Given the description of an element on the screen output the (x, y) to click on. 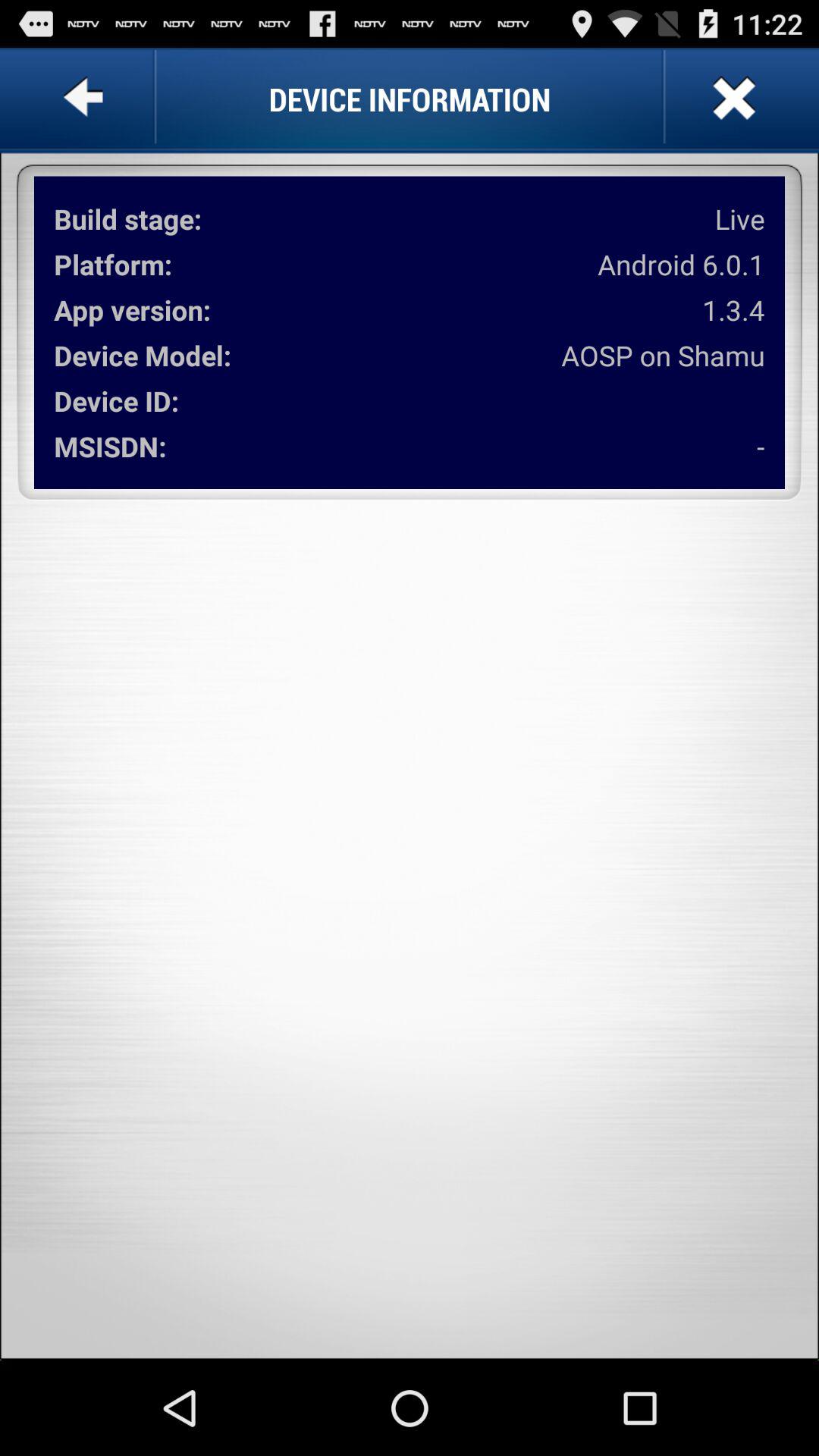
launch item to the right of the device information app (732, 99)
